Given the description of an element on the screen output the (x, y) to click on. 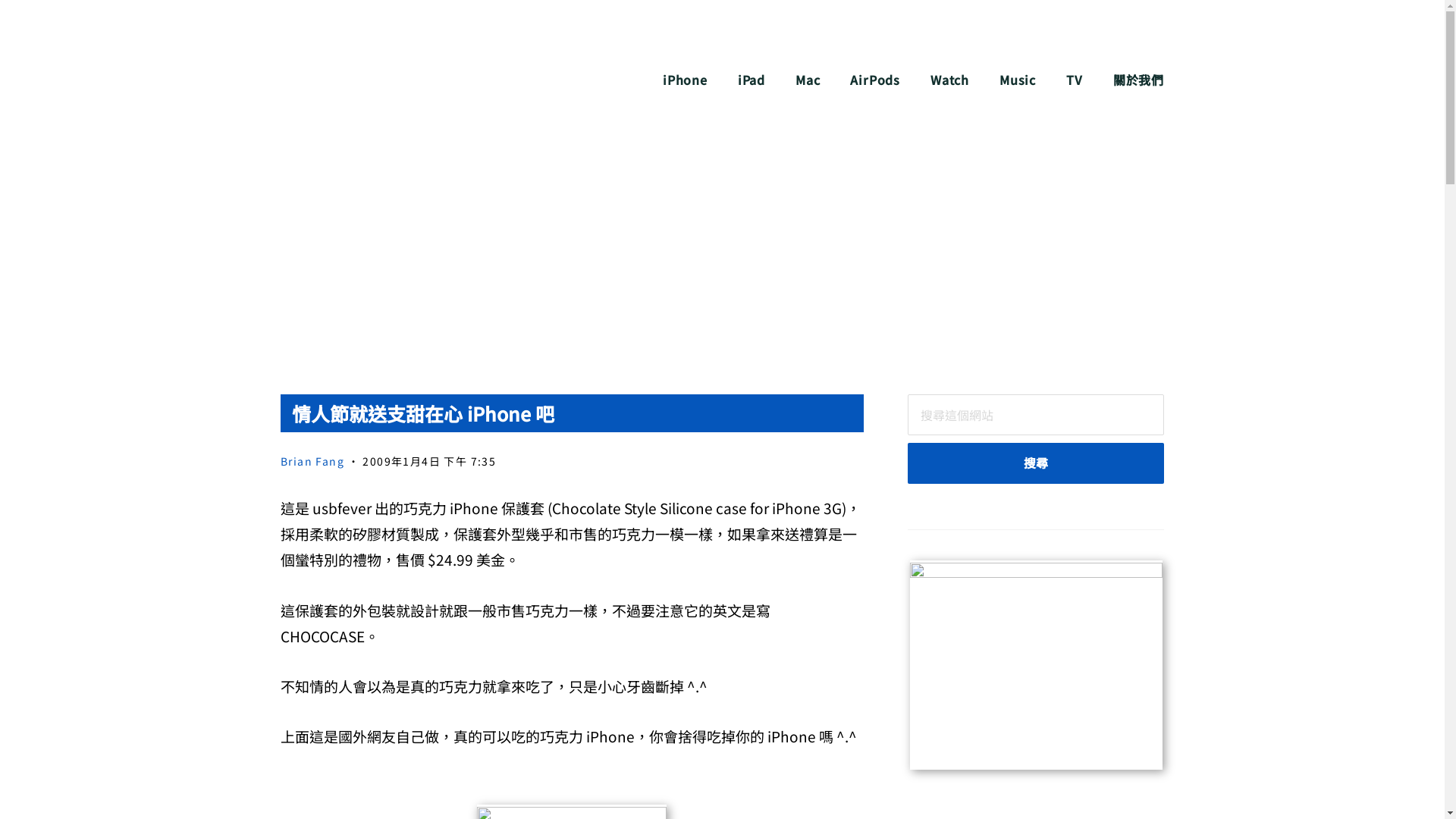
Watch Element type: text (949, 80)
Music Element type: text (1017, 80)
iPhone Element type: text (684, 80)
iPad Element type: text (751, 80)
Brian Fang Element type: text (312, 460)
Advertisement Element type: hover (721, 257)
Mac Element type: text (807, 80)
TV Element type: text (1074, 80)
AirPods Element type: text (875, 80)
